Given the description of an element on the screen output the (x, y) to click on. 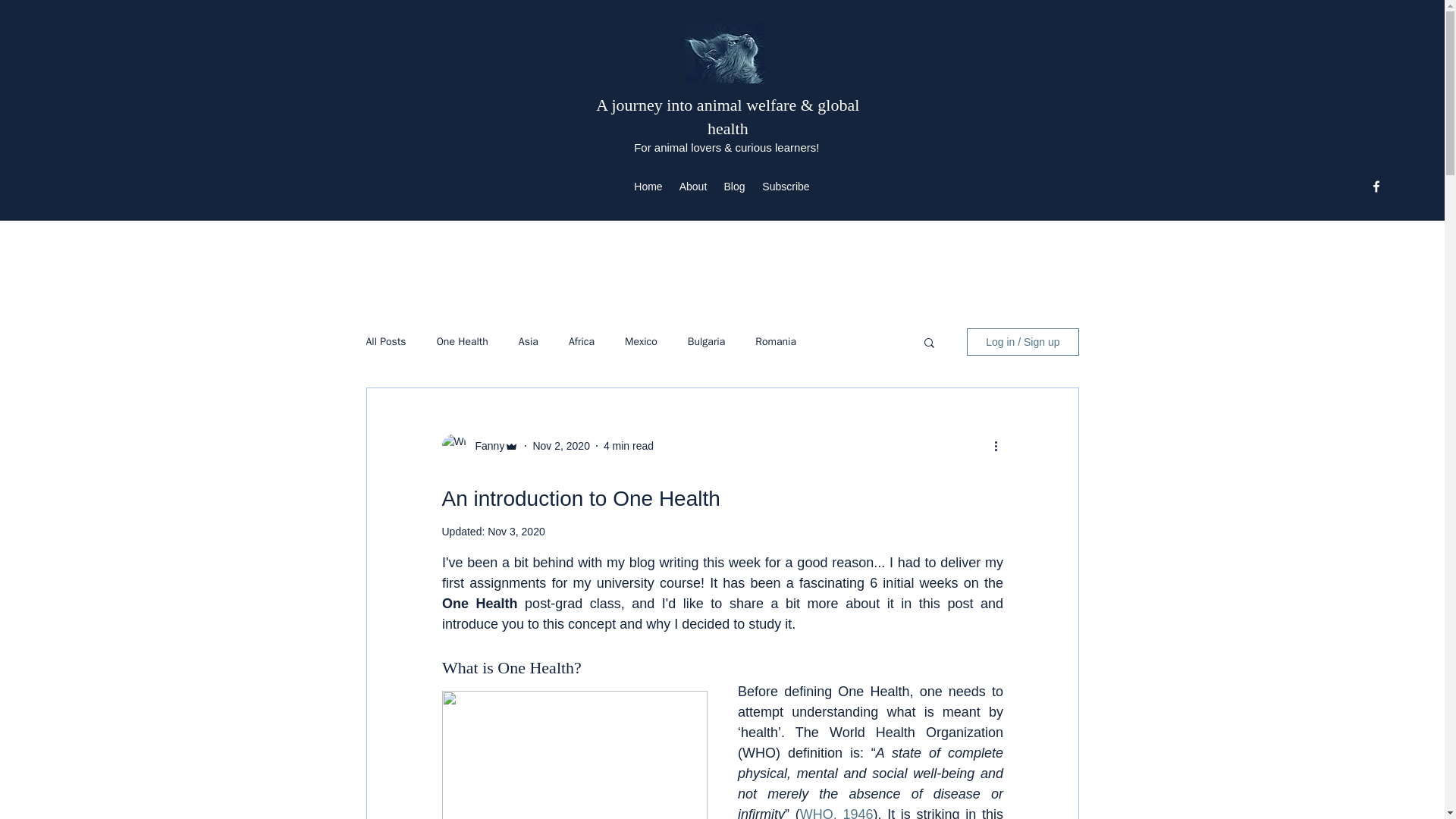
About (691, 186)
One Health (461, 341)
Fanny (484, 446)
Nov 2, 2020 (560, 445)
Blog (733, 186)
All Posts (385, 341)
4 min read (628, 445)
Romania (775, 341)
Subscribe (785, 186)
Asia (528, 341)
Bulgaria (706, 341)
Nov 3, 2020 (515, 531)
Mexico (641, 341)
Africa (581, 341)
Home (647, 186)
